Given the description of an element on the screen output the (x, y) to click on. 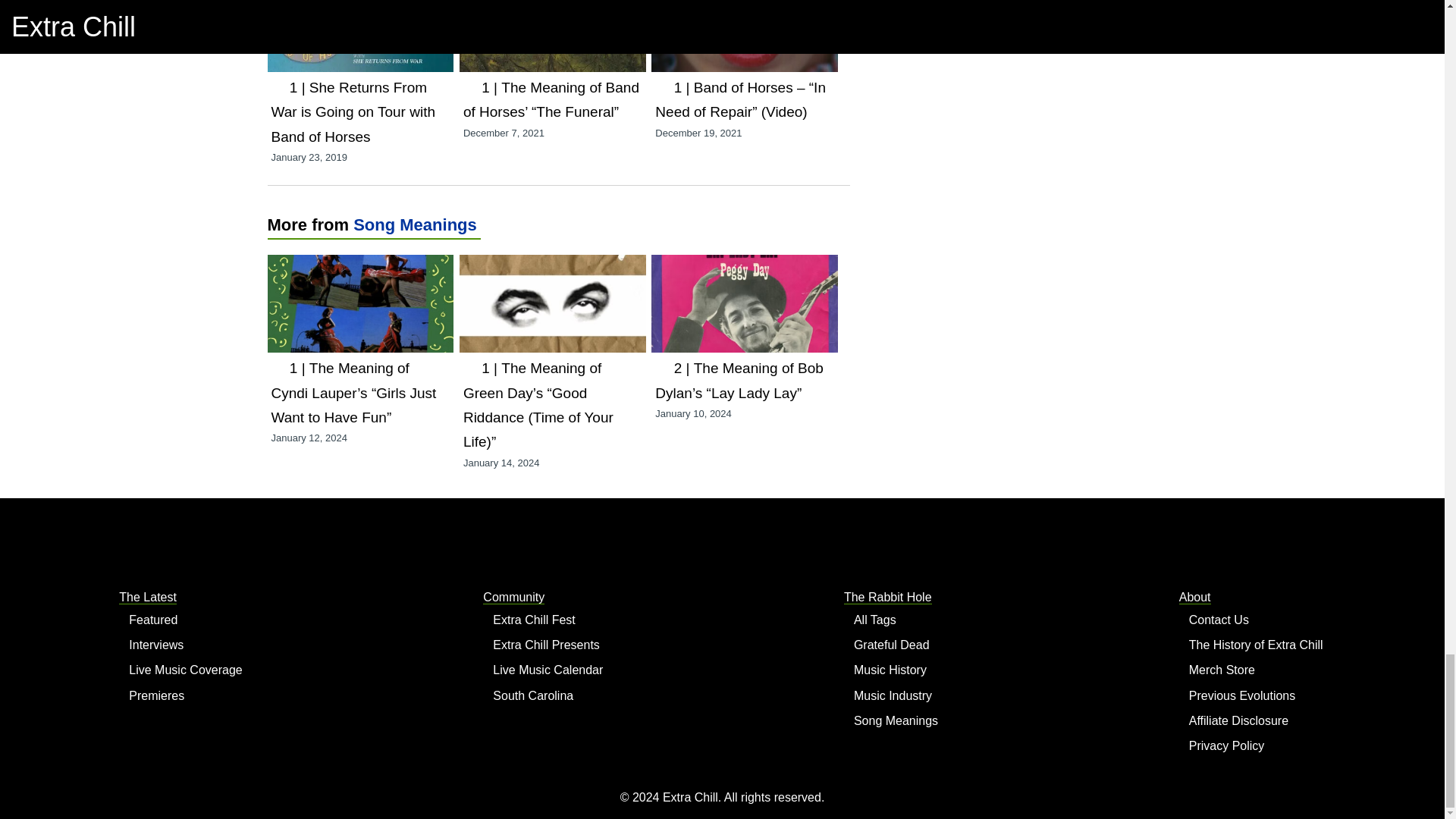
She Returns From War is Going on Tour with Band of Horses (352, 111)
Song Meanings (415, 224)
She Returns From War is Going on Tour with Band of Horses (352, 111)
